Given the description of an element on the screen output the (x, y) to click on. 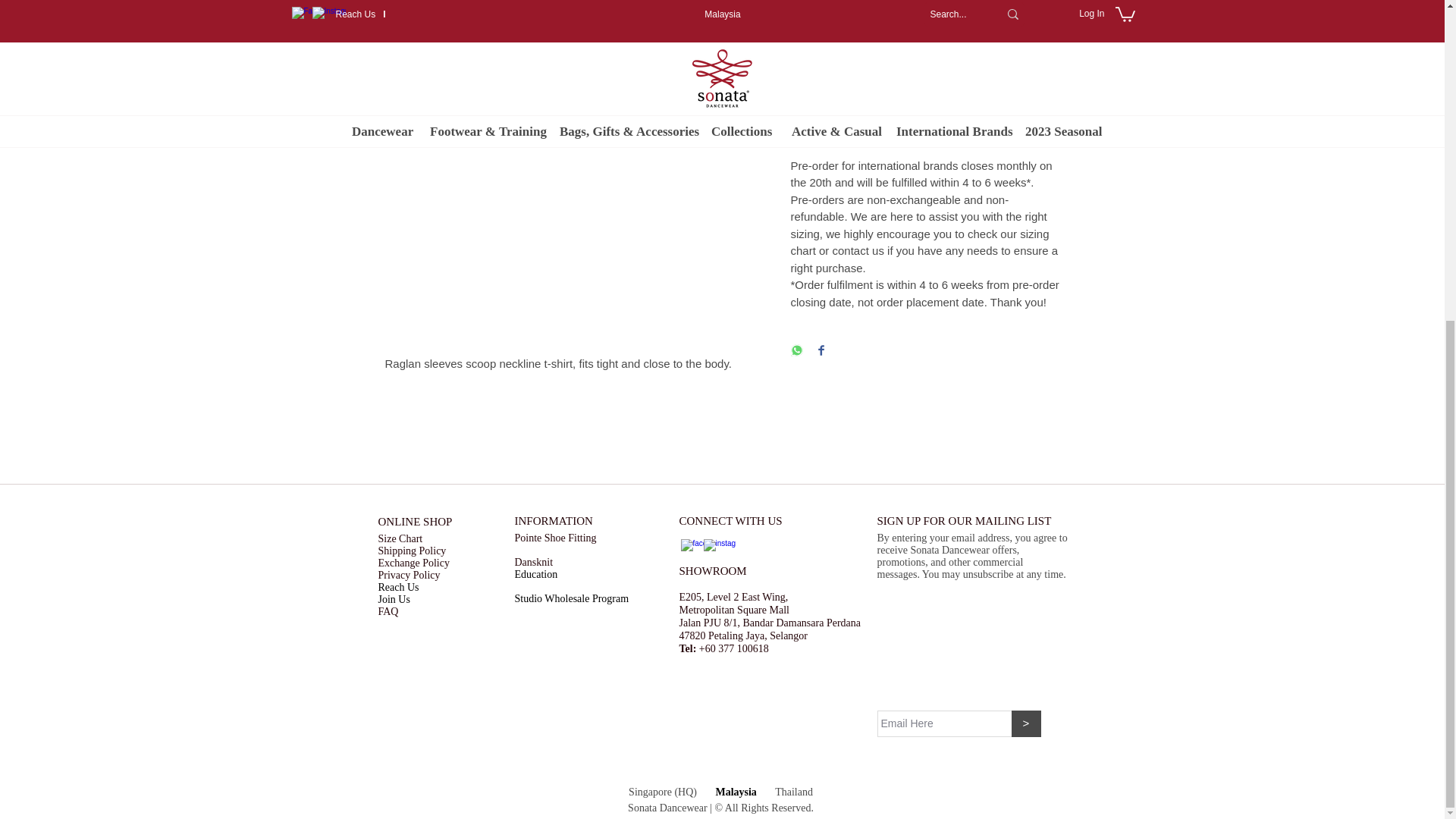
1 (827, 19)
